Given the description of an element on the screen output the (x, y) to click on. 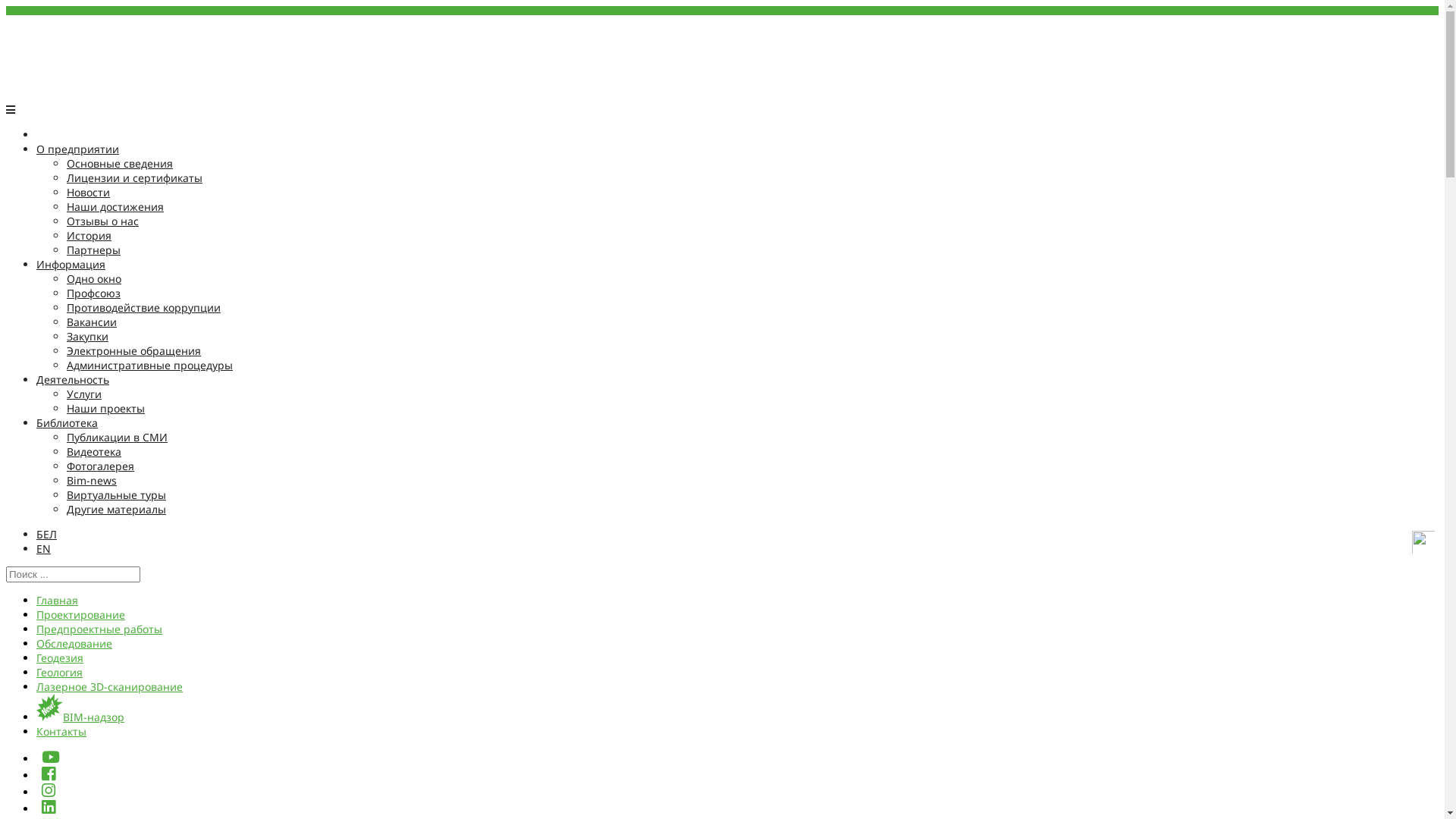
EN Element type: text (43, 548)
Bim-news Element type: text (91, 480)
